Given the description of an element on the screen output the (x, y) to click on. 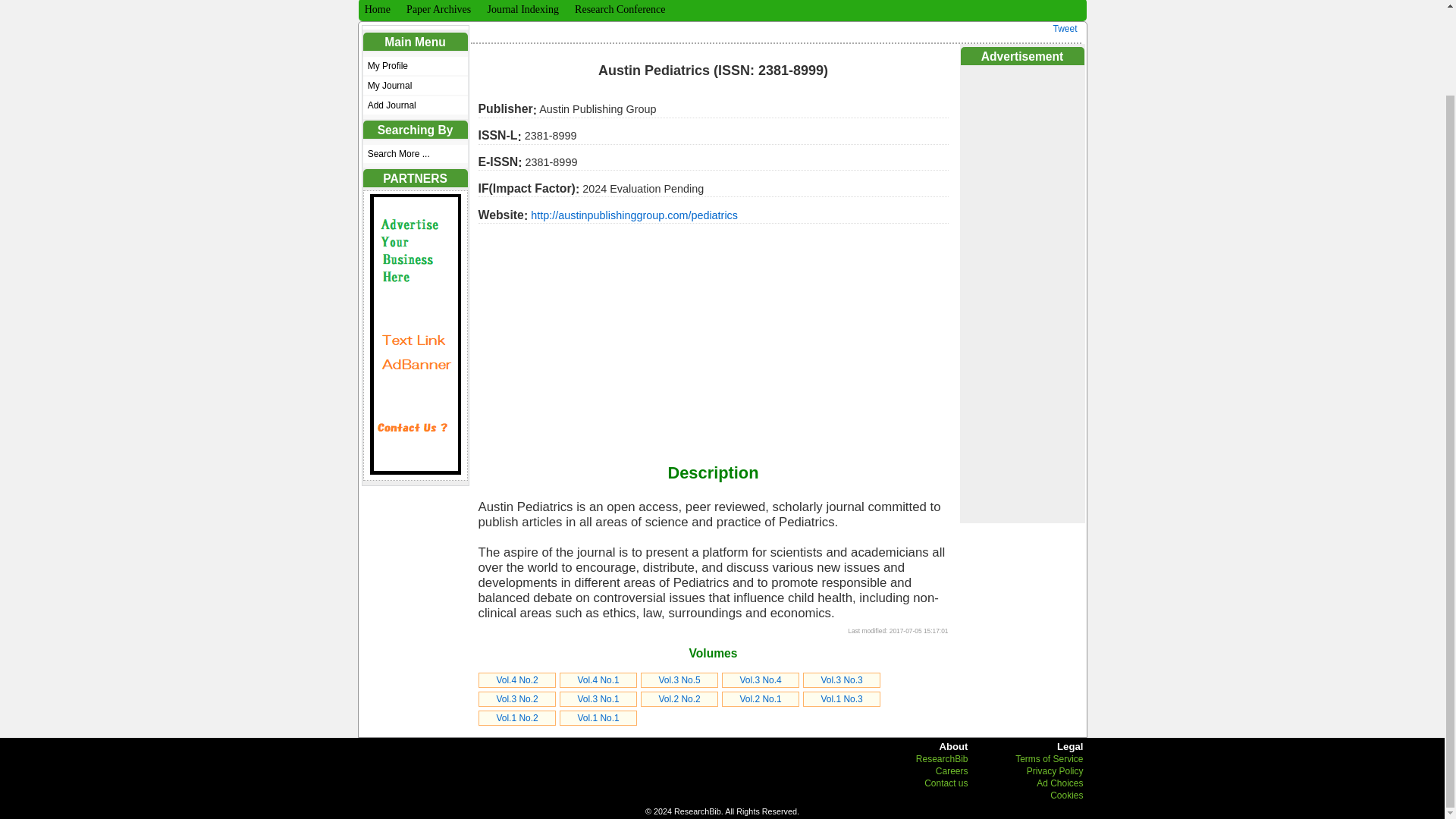
Vol.3 No.1 (597, 698)
My Journal (414, 85)
Vol.2 No.2 (679, 698)
Tweet (1064, 28)
Vol.1 No.2 (516, 717)
Research Conference (619, 9)
Cookies (1066, 795)
Advertisement (1021, 293)
Paper Archives (437, 9)
ResearchBib (941, 758)
Privacy Policy (1054, 770)
Careers (952, 770)
Search More ... (414, 153)
Vol.3 No.2 (516, 698)
Vol.1 No.1 (597, 717)
